Given the description of an element on the screen output the (x, y) to click on. 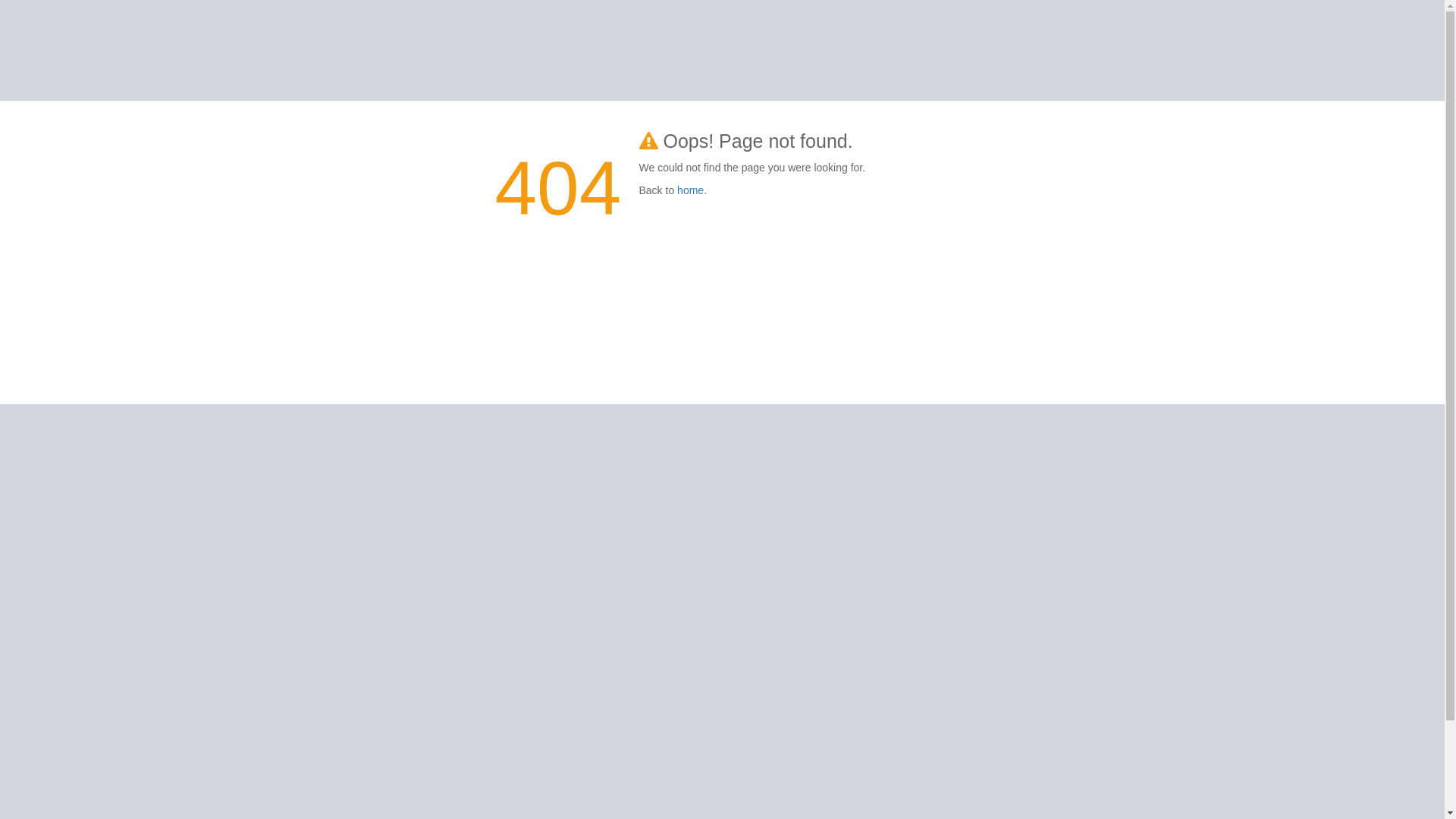
home Element type: text (690, 190)
